Given the description of an element on the screen output the (x, y) to click on. 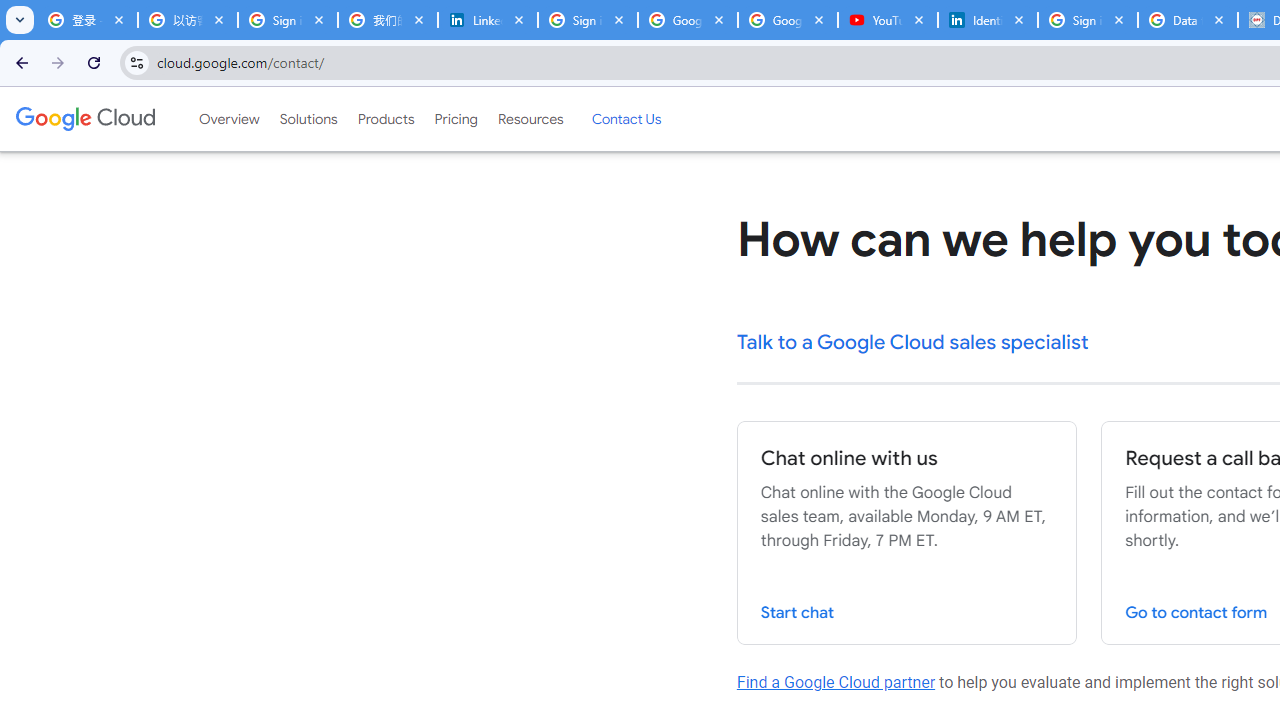
Products (385, 119)
Find a Google Cloud partner (835, 682)
Resources (530, 119)
Sign in - Google Accounts (587, 20)
LinkedIn Privacy Policy (487, 20)
